Given the description of an element on the screen output the (x, y) to click on. 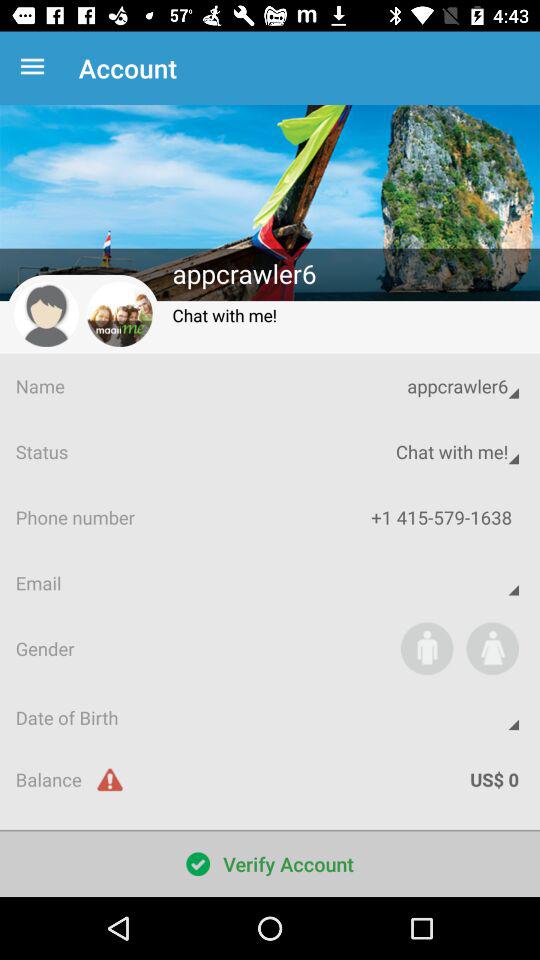
tap app to the right of the gender item (426, 648)
